Given the description of an element on the screen output the (x, y) to click on. 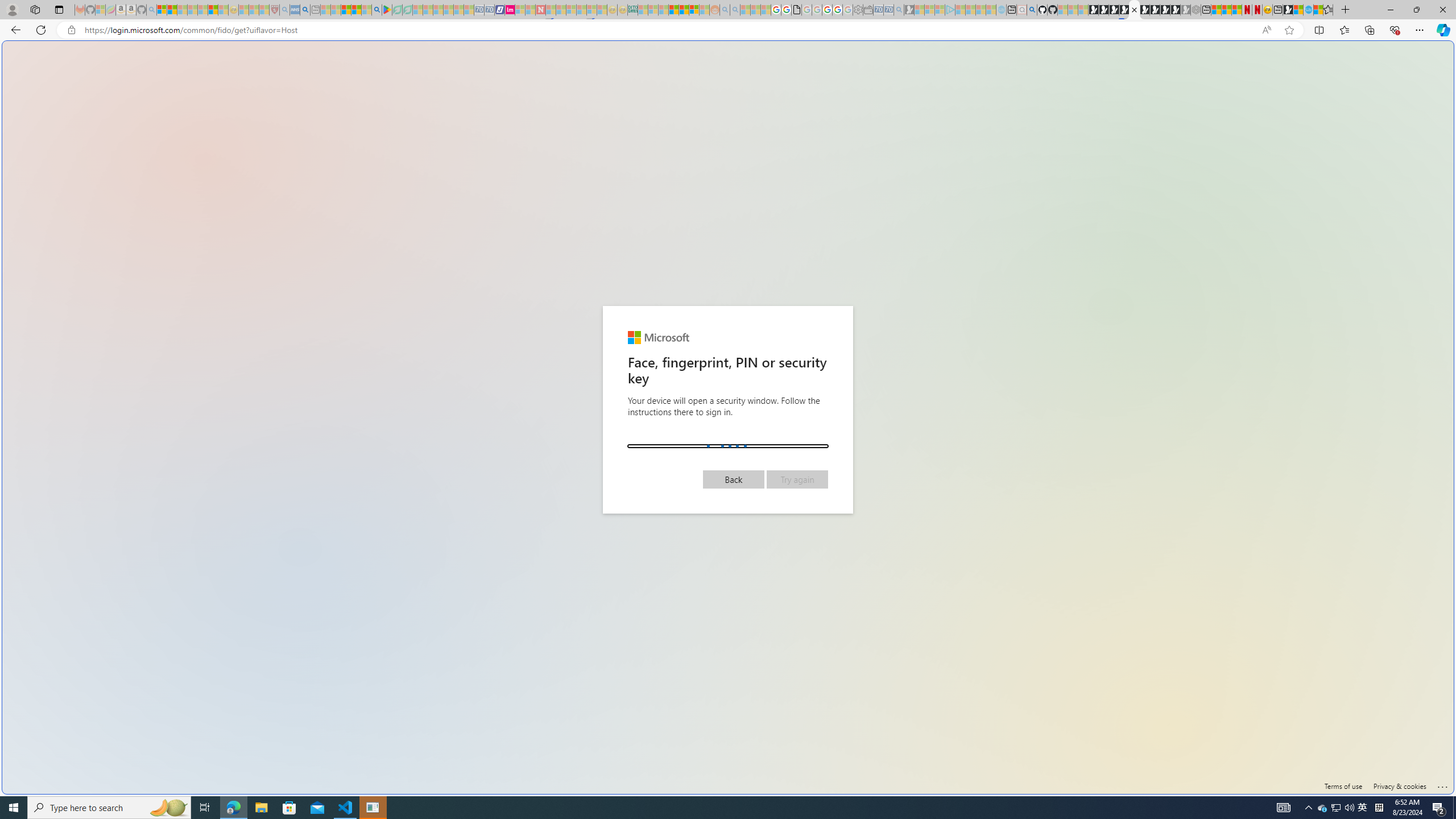
Try again (797, 479)
google_privacy_policy_zh-CN.pdf (1118, 683)
github - Search (1032, 9)
utah sues federal government - Search (922, 389)
